Given the description of an element on the screen output the (x, y) to click on. 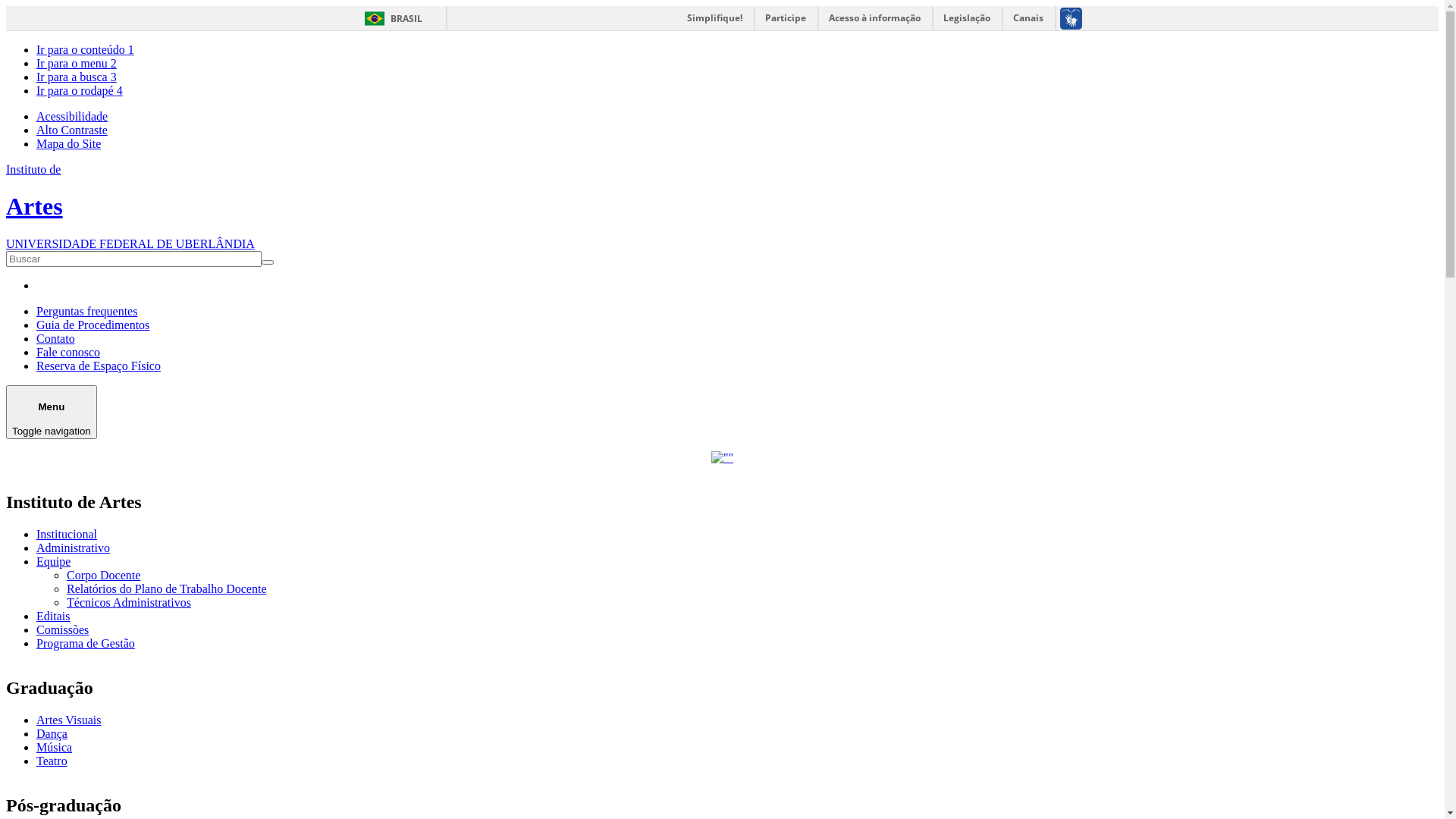
Perguntas frequentes Element type: text (86, 310)
Alto Contraste Element type: text (71, 129)
Canais Element type: text (1028, 17)
Administrativo Element type: text (72, 547)
Institucional Element type: text (66, 533)
Editais Element type: text (52, 615)
Buscar Element type: text (27, 268)
Ir para a busca 3 Element type: text (76, 76)
Simplifique! Element type: text (714, 17)
Corpo Docente Element type: text (103, 574)
Contato Element type: text (55, 338)
Teatro Element type: text (51, 760)
Mapa do Site Element type: text (68, 143)
Equipe Element type: text (53, 561)
Ir para o menu 2 Element type: text (76, 62)
Fale conosco Element type: text (68, 351)
Artes Visuais Element type: text (68, 719)
BRASIL Element type: text (389, 18)
Menu
Toggle navigation Element type: text (51, 412)
Participe Element type: text (786, 17)
Guia de Procedimentos Element type: text (92, 324)
Acessibilidade Element type: text (71, 115)
